Given the description of an element on the screen output the (x, y) to click on. 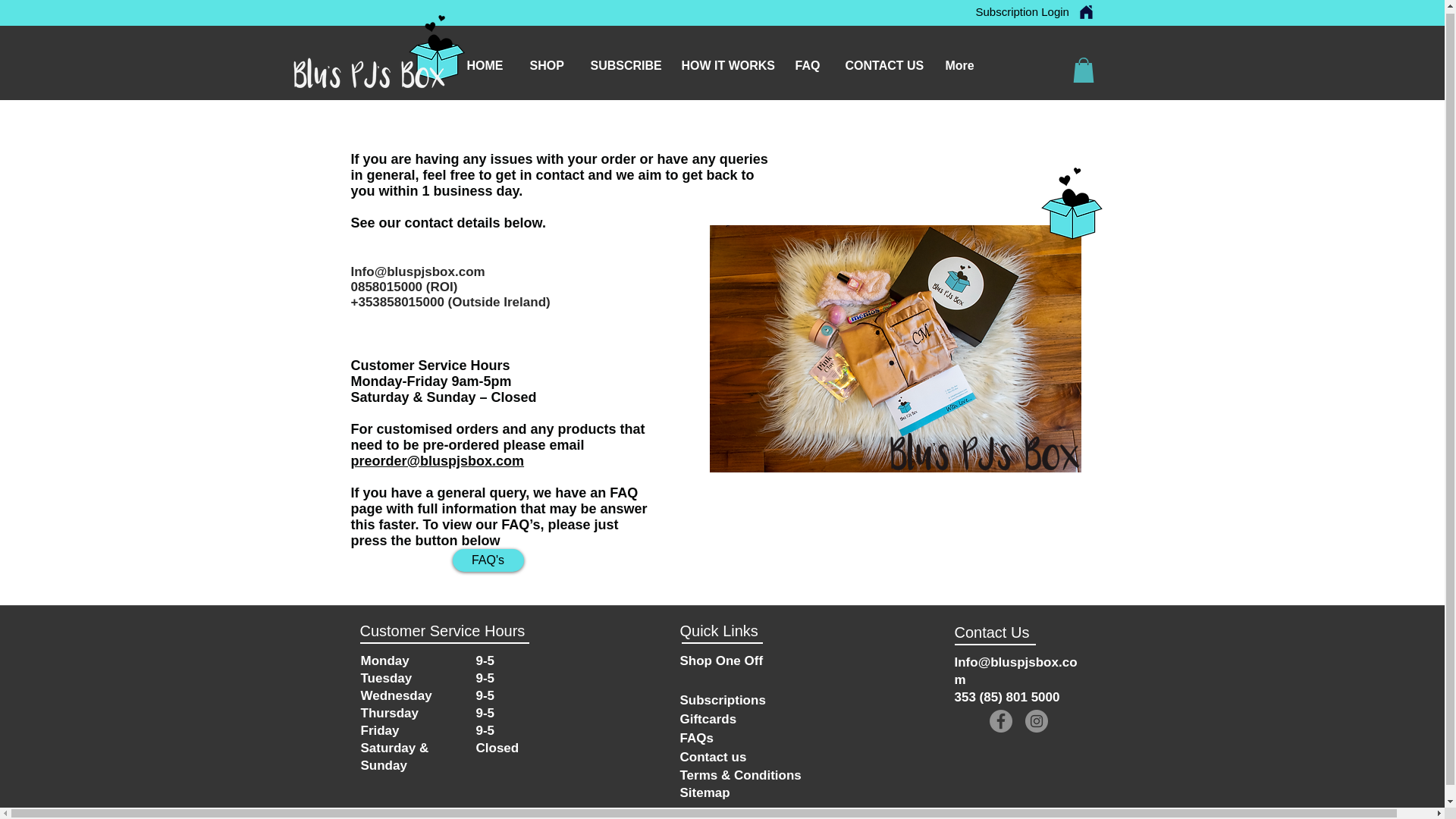
SUBSCRIBE (624, 62)
HOW IT WORKS (726, 62)
Giftcards (707, 718)
SHOP (548, 62)
Shop One Off (720, 659)
FAQs (696, 736)
CONTACT US (884, 62)
0858015000 (386, 287)
Subscription Login (1021, 9)
FAQ (809, 62)
Subscriptions (722, 699)
FAQ's (486, 559)
HOME (486, 62)
Sitemap (704, 791)
Contact us (712, 755)
